Given the description of an element on the screen output the (x, y) to click on. 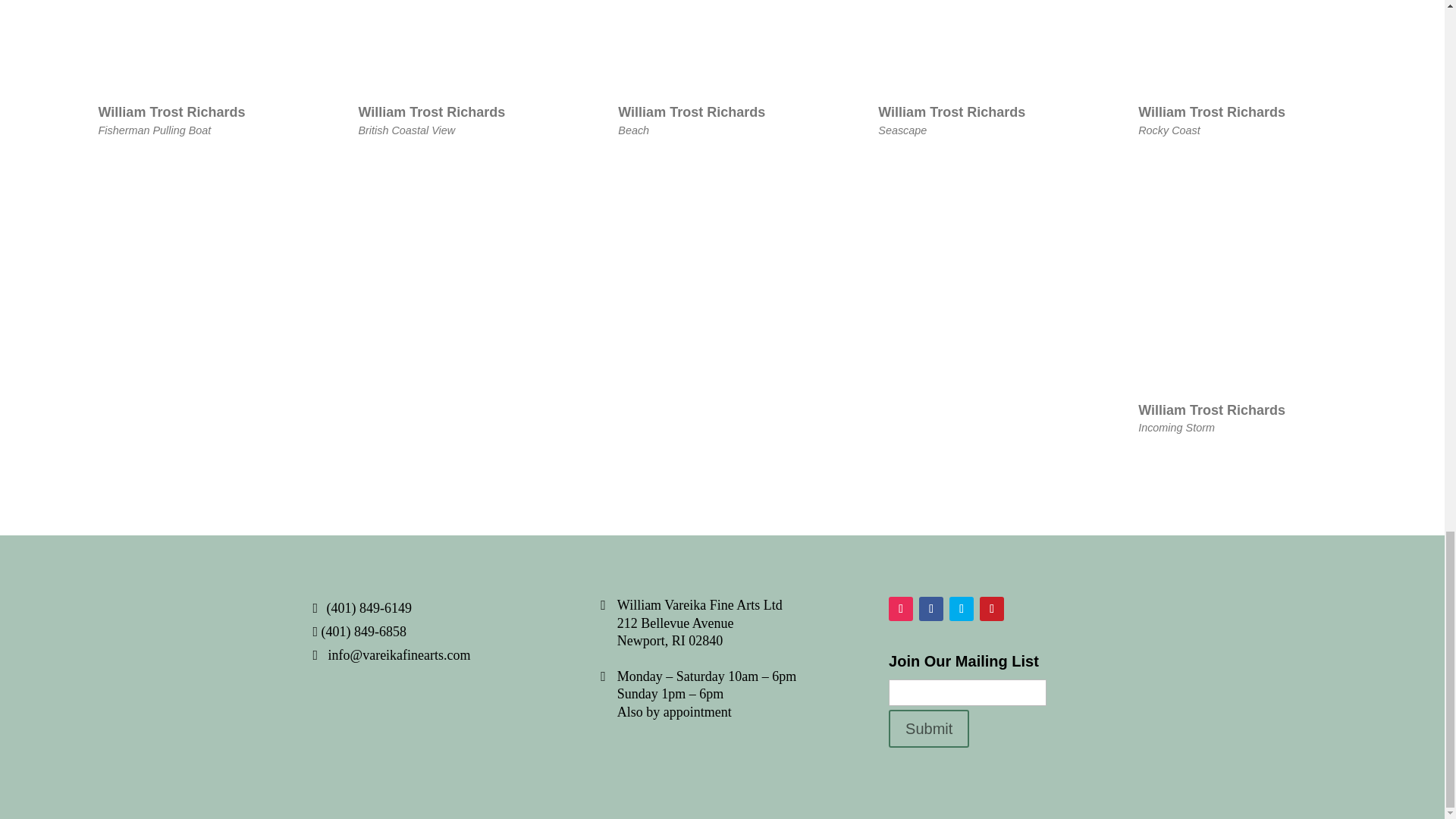
Follow on Instagram (900, 608)
Follow on Facebook (981, 68)
Follow on Twitter (462, 68)
Follow on Pinterest (202, 68)
Submit (721, 68)
